Given the description of an element on the screen output the (x, y) to click on. 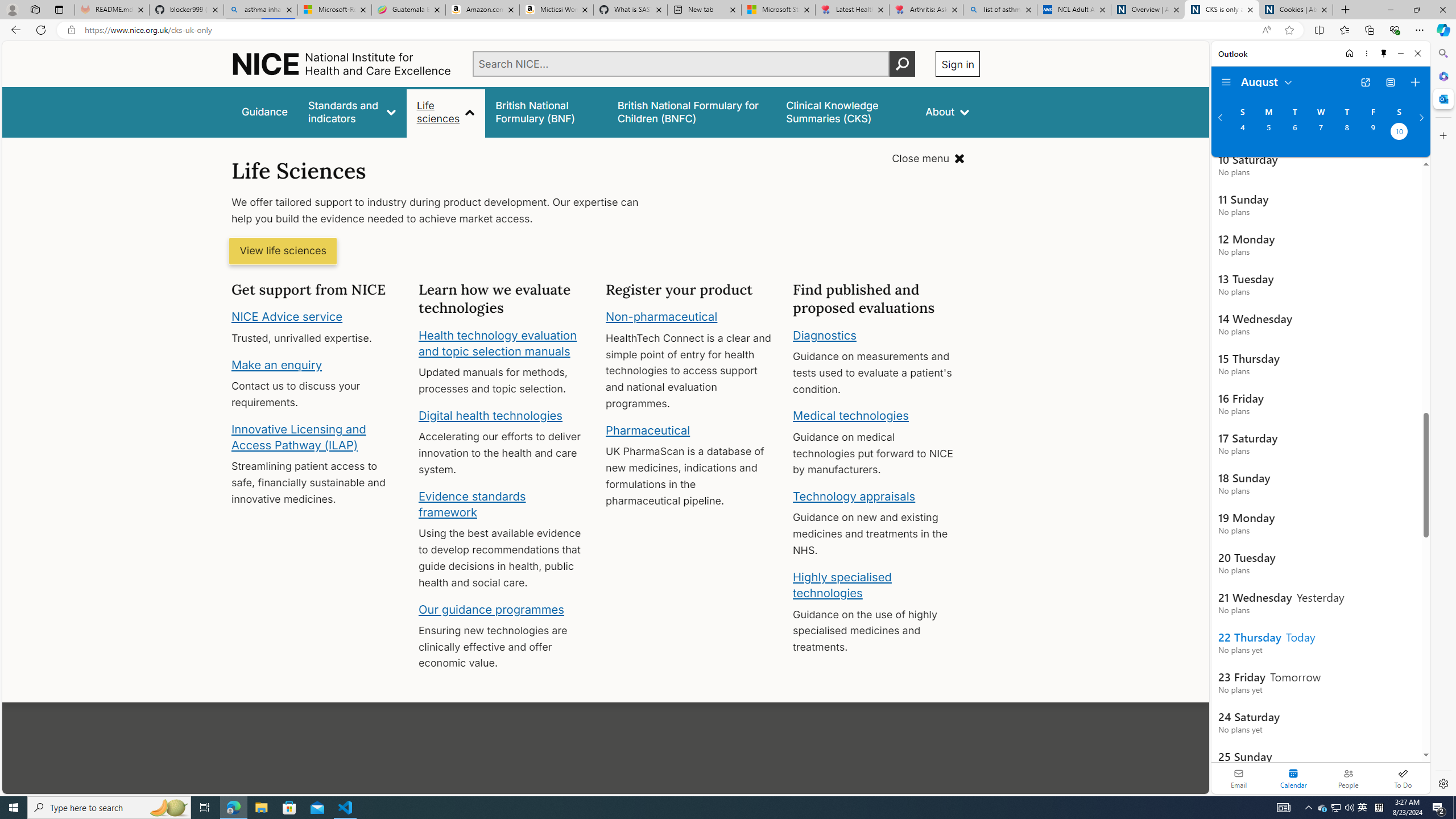
Cookies | About | NICE (1295, 9)
British National Formulary for Children (BNFC) (691, 111)
